Given the description of an element on the screen output the (x, y) to click on. 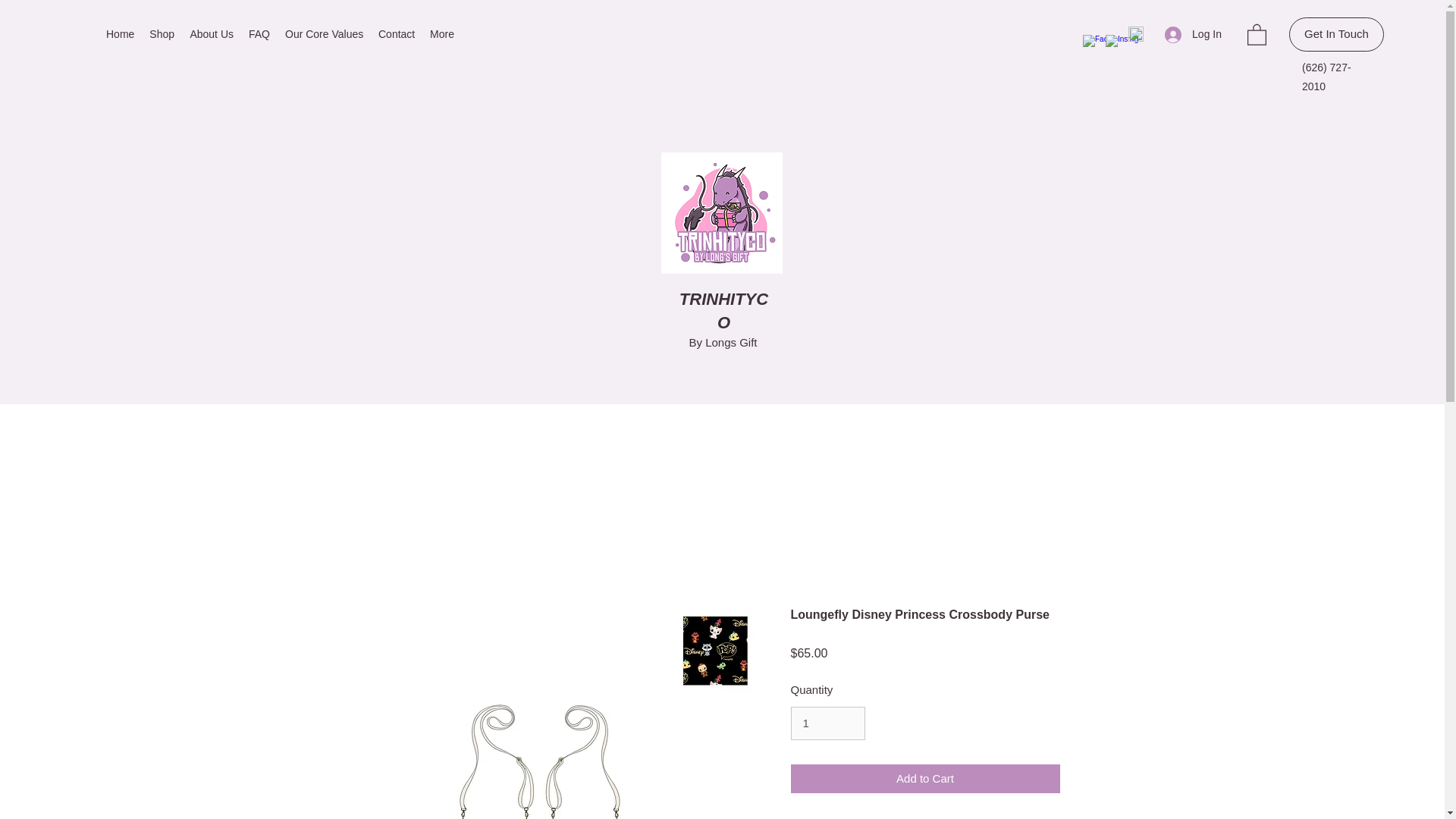
Log In (1192, 34)
TRINHITYCO (723, 310)
Contact (396, 33)
Add to Cart (924, 778)
FAQ (259, 33)
Get In Touch (1336, 34)
Home (120, 33)
1 (827, 723)
Our Core Values (324, 33)
Shop (161, 33)
About Us (211, 33)
